Given the description of an element on the screen output the (x, y) to click on. 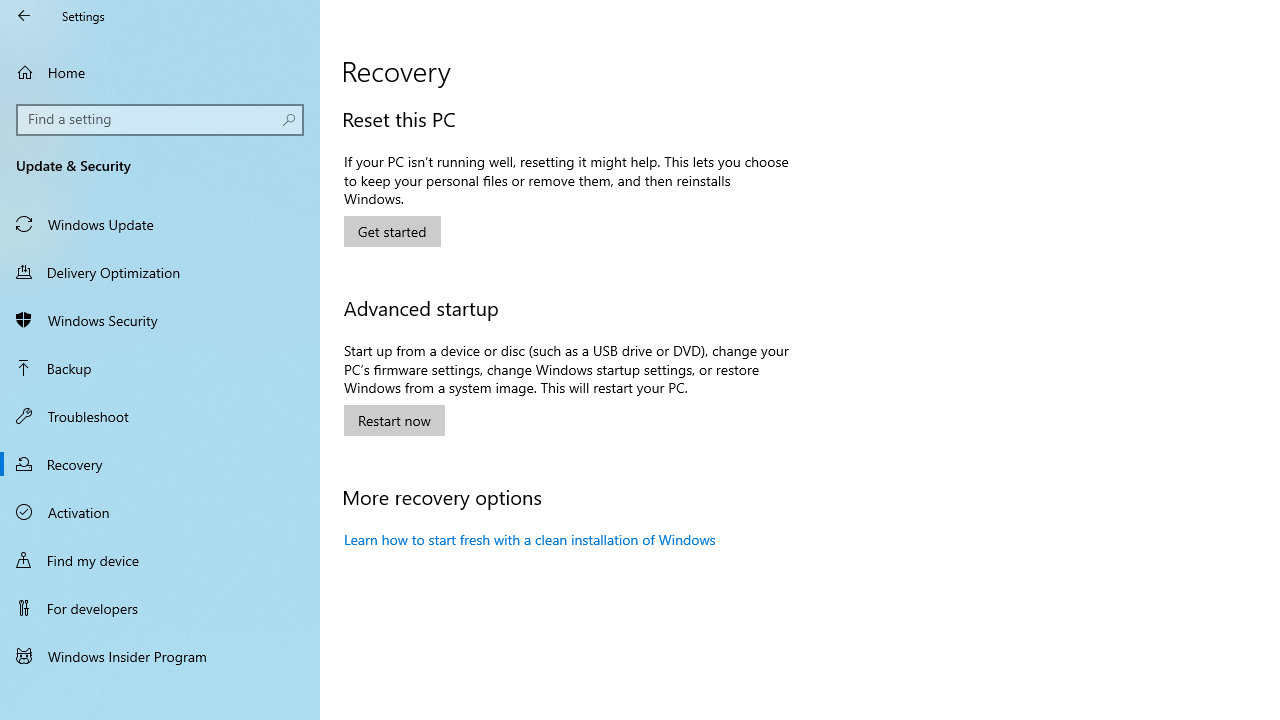
Windows Security (160, 319)
Get started with resetting this PC (392, 231)
Troubleshoot (160, 415)
Windows Insider Program (160, 655)
Recovery (160, 463)
Find my device (160, 559)
Windows Update (160, 223)
Activation (160, 511)
Backup (160, 367)
Restart now to view advanced startup options (394, 420)
For developers (160, 607)
Search box, Find a setting (160, 119)
